Given the description of an element on the screen output the (x, y) to click on. 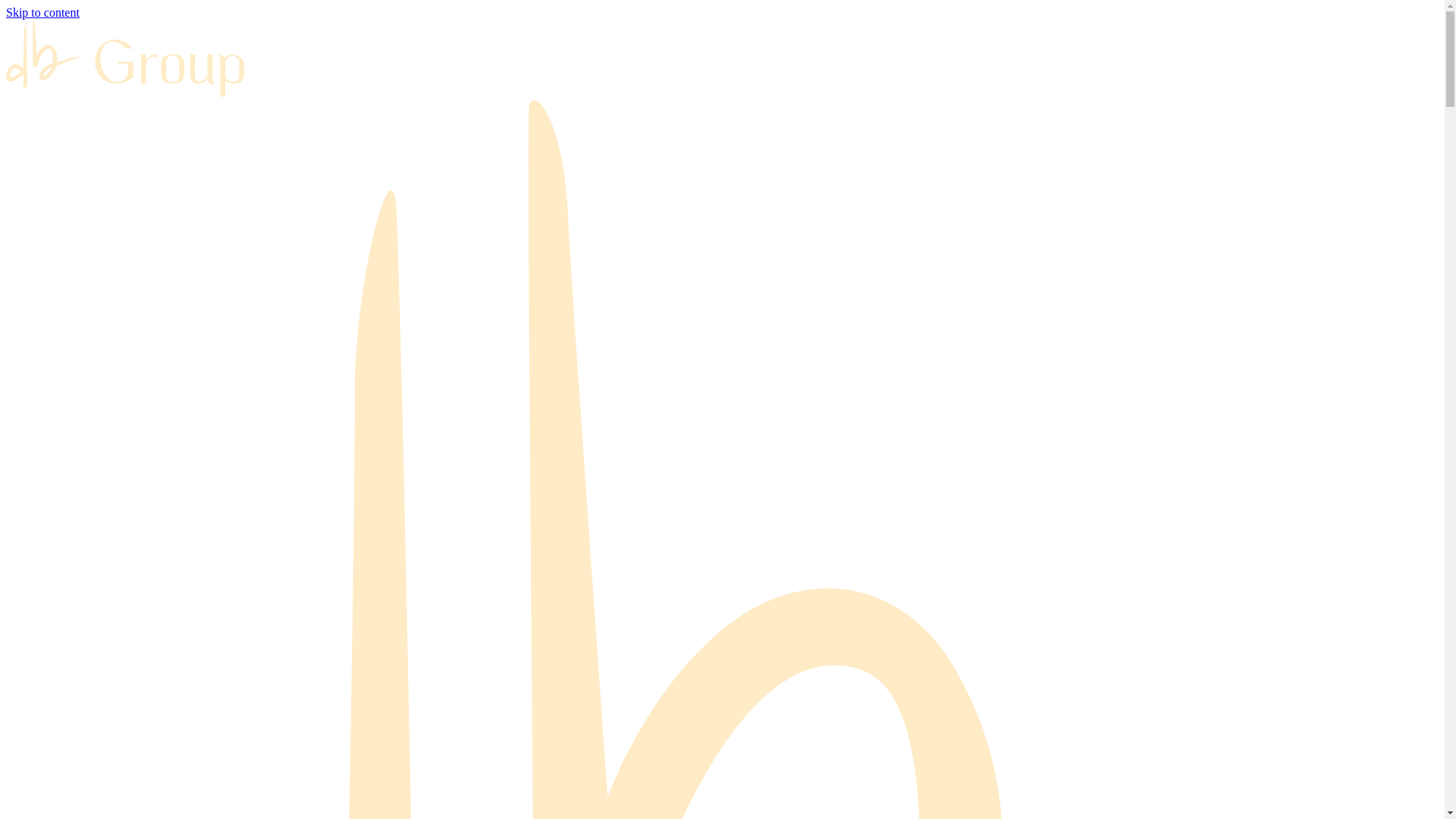
Skip to content (42, 11)
